Given the description of an element on the screen output the (x, y) to click on. 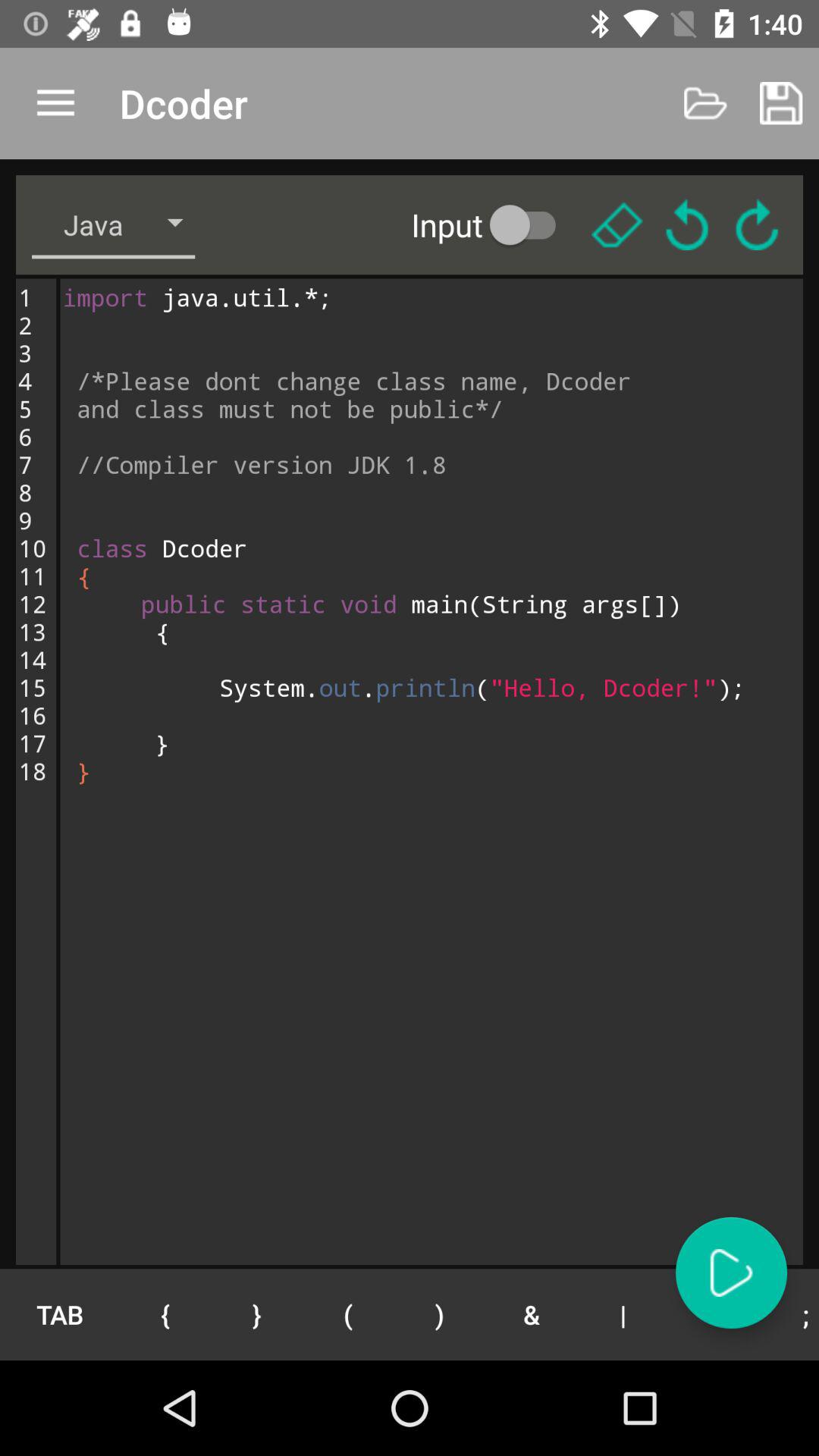
open import java util icon (431, 771)
